Given the description of an element on the screen output the (x, y) to click on. 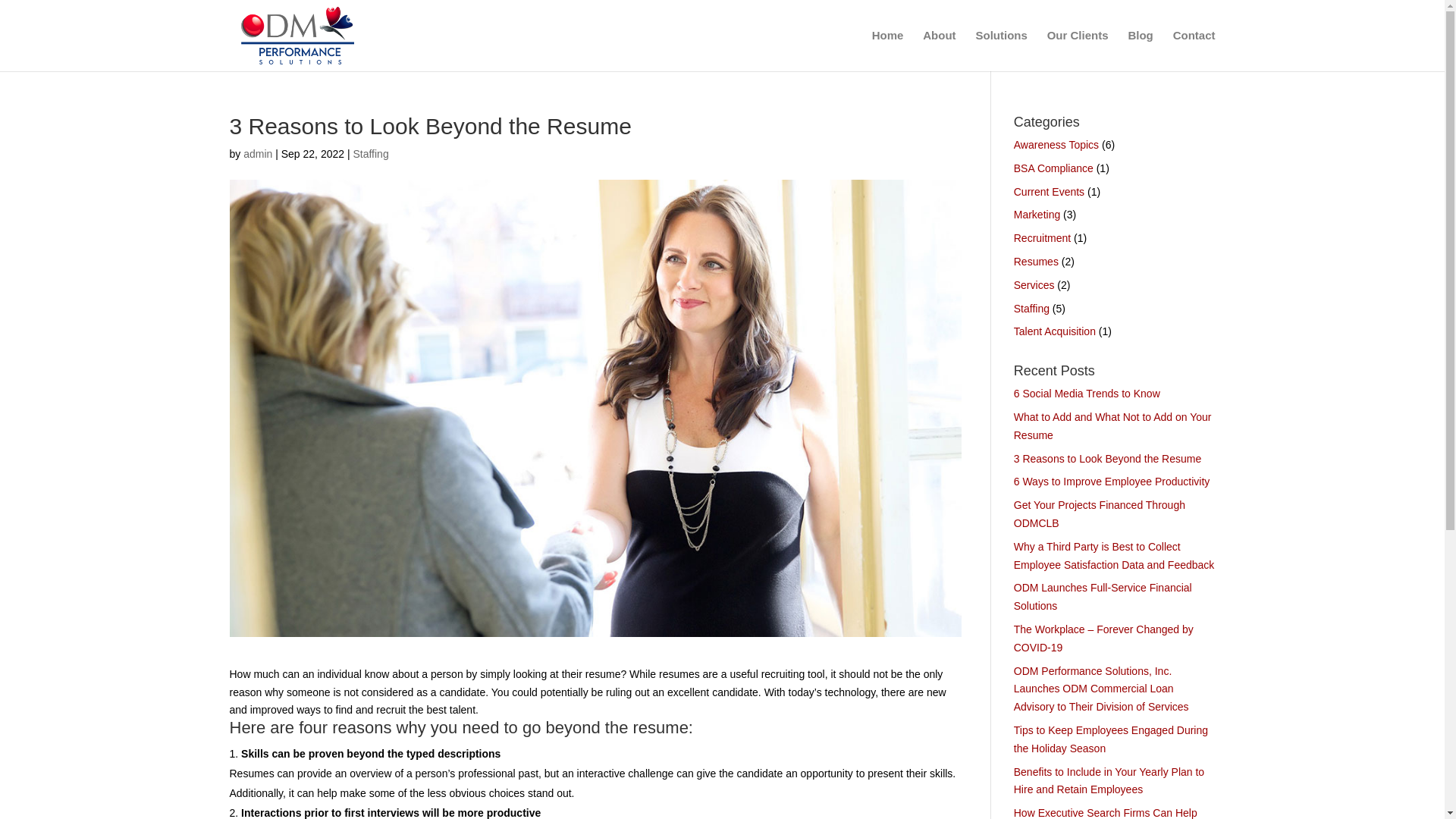
Posts by admin (257, 153)
Recruitment (1041, 237)
Marketing (1036, 214)
3 Reasons to Look Beyond the Resume (1107, 458)
Resumes (1035, 261)
Talent Acquisition (1054, 331)
Contact (1194, 50)
Our Clients (1077, 50)
Current Events (1048, 191)
6 Ways to Improve Employee Productivity (1111, 481)
Solutions (1000, 50)
Awareness Topics (1056, 144)
Tips to Keep Employees Engaged During the Holiday Season (1110, 738)
Staffing (1031, 308)
